Given the description of an element on the screen output the (x, y) to click on. 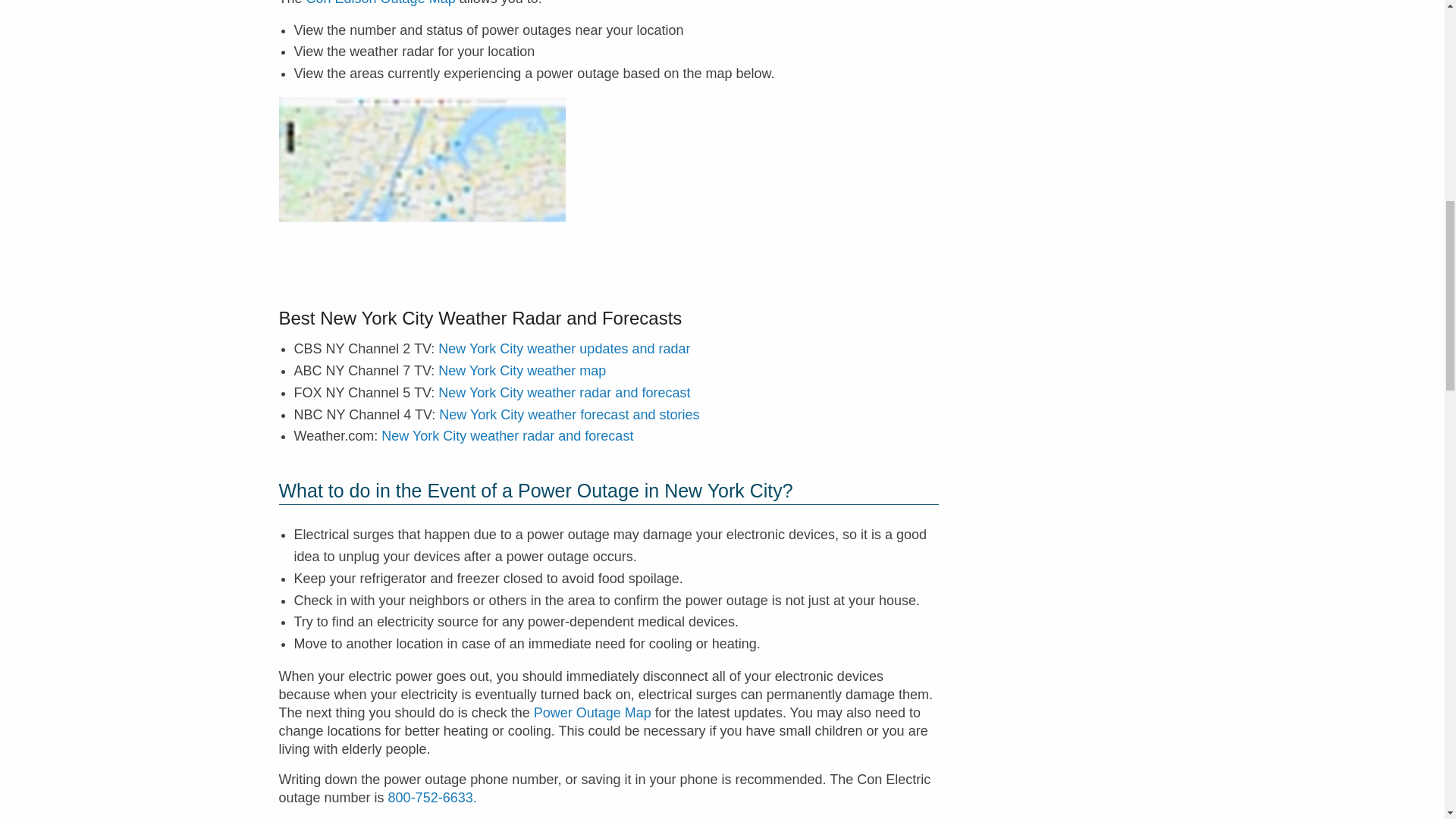
New York City weather map (521, 370)
New York City weather radar and forecast (564, 392)
Con Edison Outage Map (380, 2)
New York City weather updates and radar (564, 348)
